Given the description of an element on the screen output the (x, y) to click on. 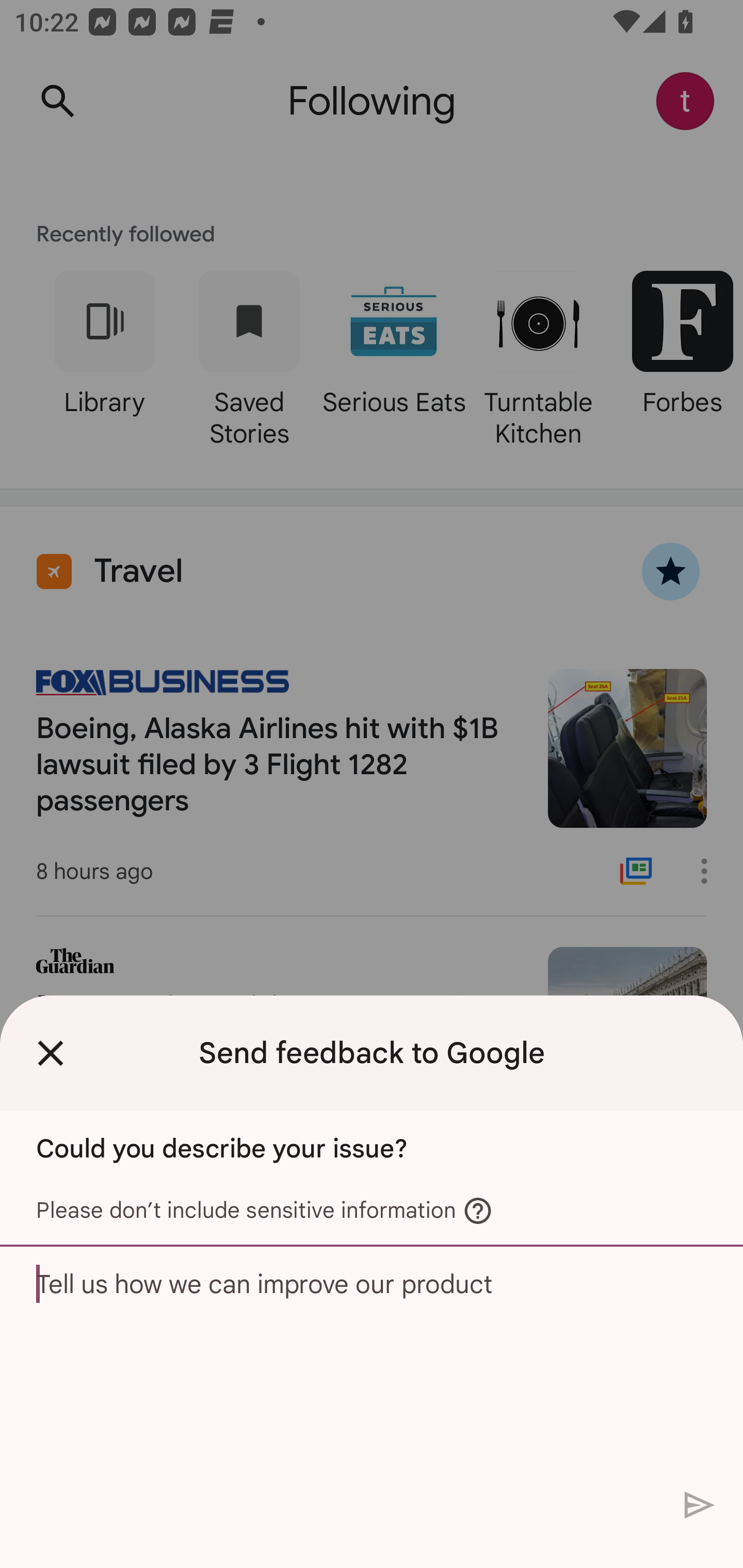
Close Feedback (50, 1052)
Tell us how we can improve our product (371, 1362)
Submit the feedback that you entered (699, 1504)
